Given the description of an element on the screen output the (x, y) to click on. 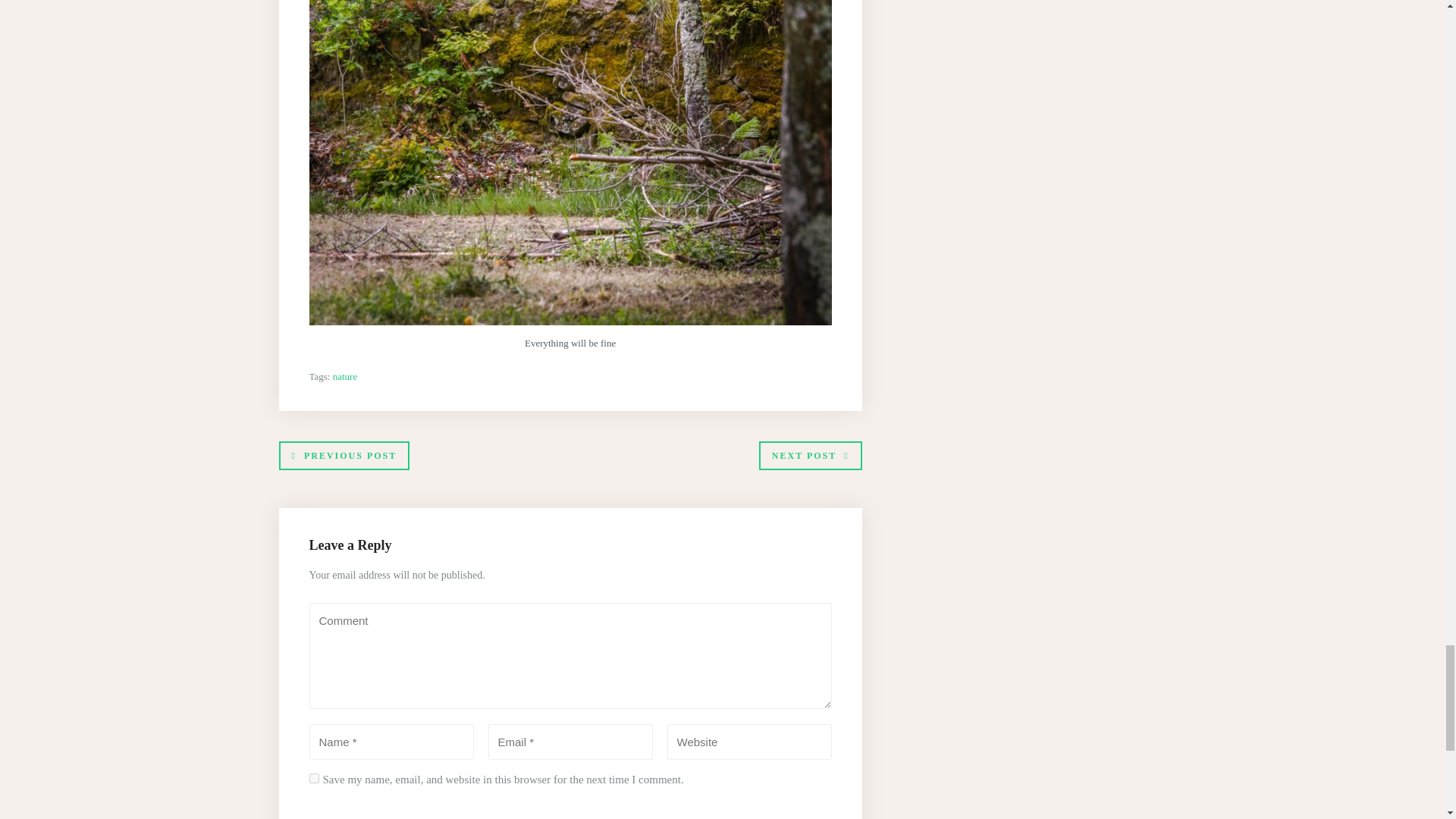
NEXT POST (809, 455)
yes (313, 777)
nature (344, 376)
PREVIOUS POST (344, 455)
